Given the description of an element on the screen output the (x, y) to click on. 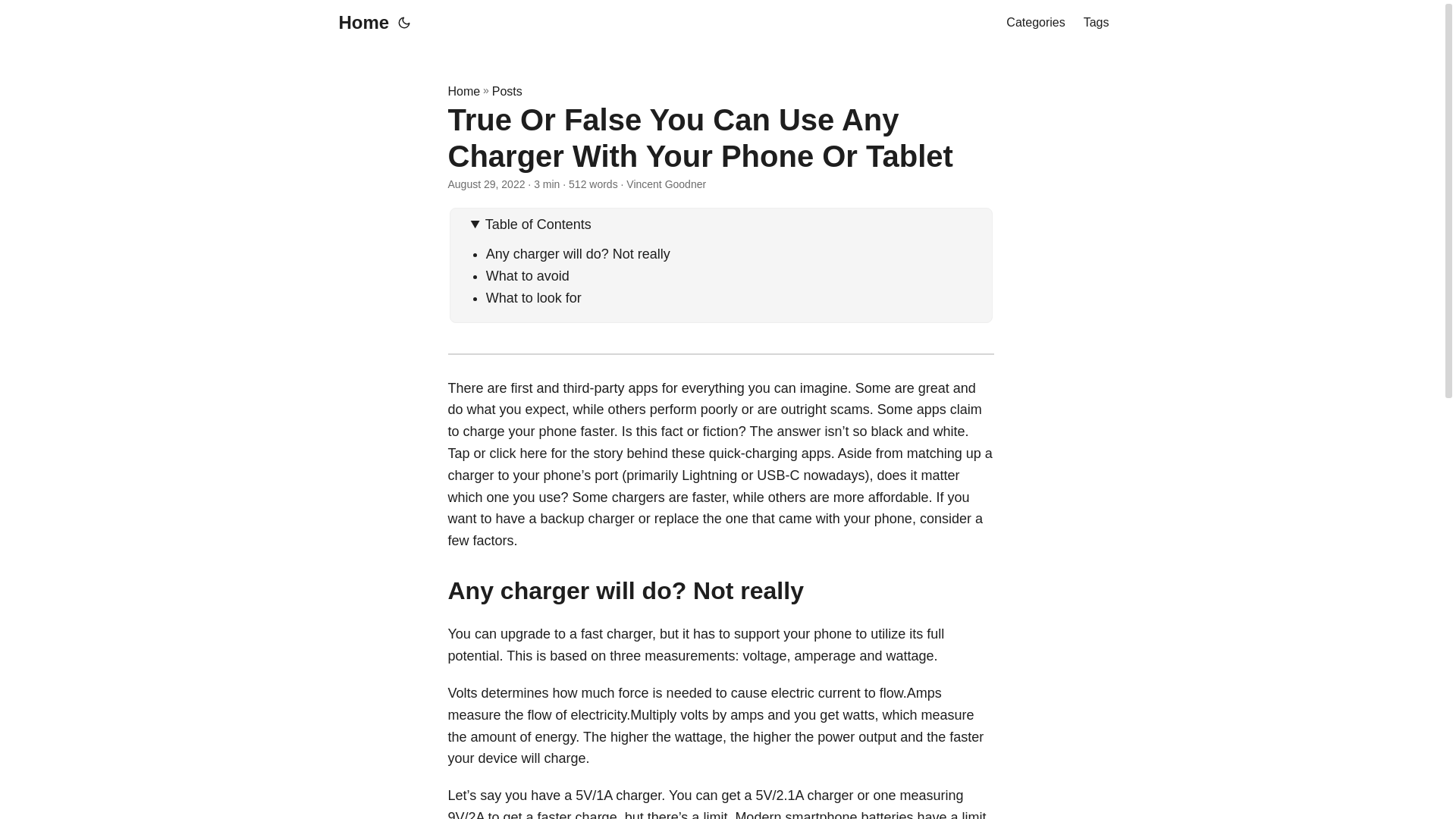
Posts (507, 91)
Categories (1035, 22)
Any charger will do? Not really (577, 253)
Home (359, 22)
What to avoid (527, 275)
Home (463, 91)
What to look for (533, 297)
Categories (1035, 22)
